Given the description of an element on the screen output the (x, y) to click on. 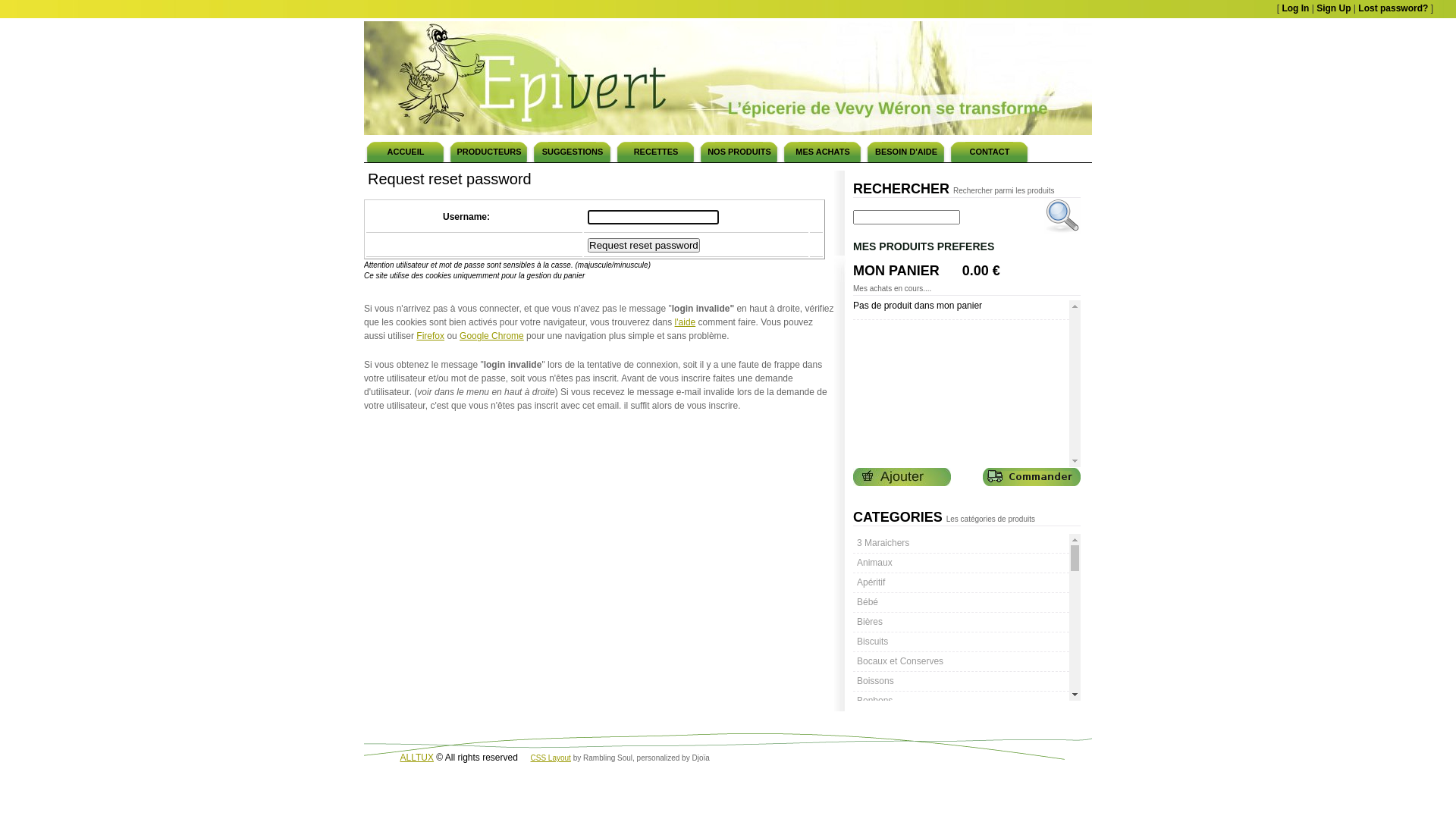
Log In Element type: text (1294, 8)
MES ACHATS Element type: text (822, 150)
Animaux Element type: text (961, 562)
Bonbons Element type: text (961, 700)
SUGGESTIONS Element type: text (572, 150)
CONTACT Element type: text (989, 150)
ACCUEIL Element type: text (405, 150)
Google Chrome Element type: text (491, 335)
3 Maraichers Element type: text (961, 542)
Biscuits Element type: text (961, 641)
Condiments Element type: text (961, 779)
Boissons Element type: text (961, 680)
Request reset password Element type: text (643, 245)
RECETTES Element type: text (655, 150)
NOS PRODUITS Element type: text (739, 150)
MES PRODUITS PREFERES Element type: text (964, 245)
BESOIN D'AIDE Element type: text (905, 150)
Firefox Element type: text (430, 335)
ALLTUX Element type: text (416, 757)
Sign Up Element type: text (1333, 8)
Bocaux et Conserves Element type: text (961, 661)
CSS Layout Element type: text (550, 757)
Lost password? Element type: text (1392, 8)
l'aide Element type: text (685, 321)
PRODUCTEURS Element type: text (488, 150)
Chocolat Element type: text (961, 759)
